Given the description of an element on the screen output the (x, y) to click on. 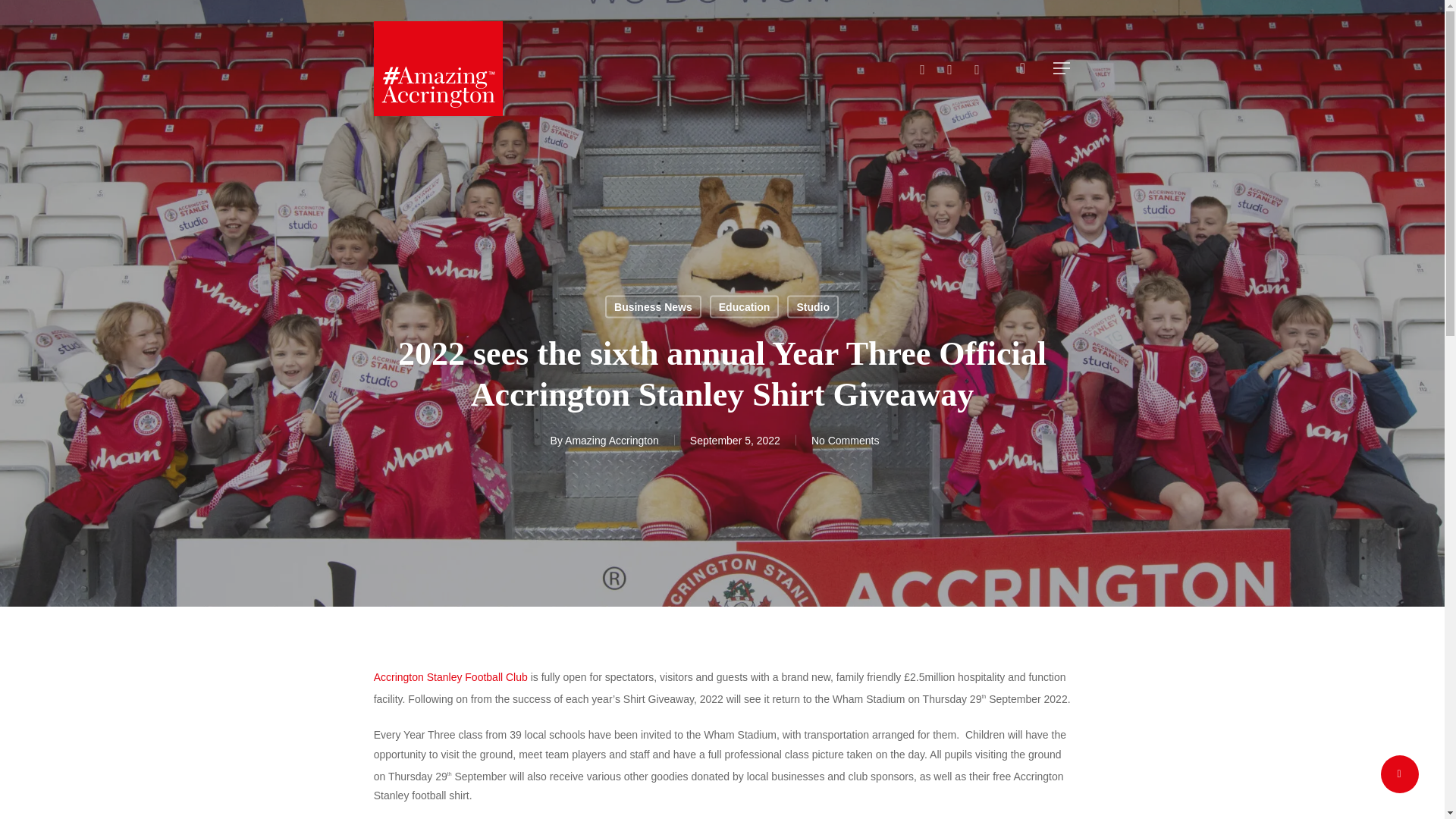
linkedin (976, 67)
Business News (653, 306)
Amazing Accrington (611, 439)
Studio (812, 306)
Accrington Stanley Football Club (450, 676)
Posts by Amazing Accrington (611, 439)
x-twitter (922, 67)
search (1021, 68)
facebook (949, 67)
Education (744, 306)
No Comments (844, 439)
Menu (1061, 68)
